Given the description of an element on the screen output the (x, y) to click on. 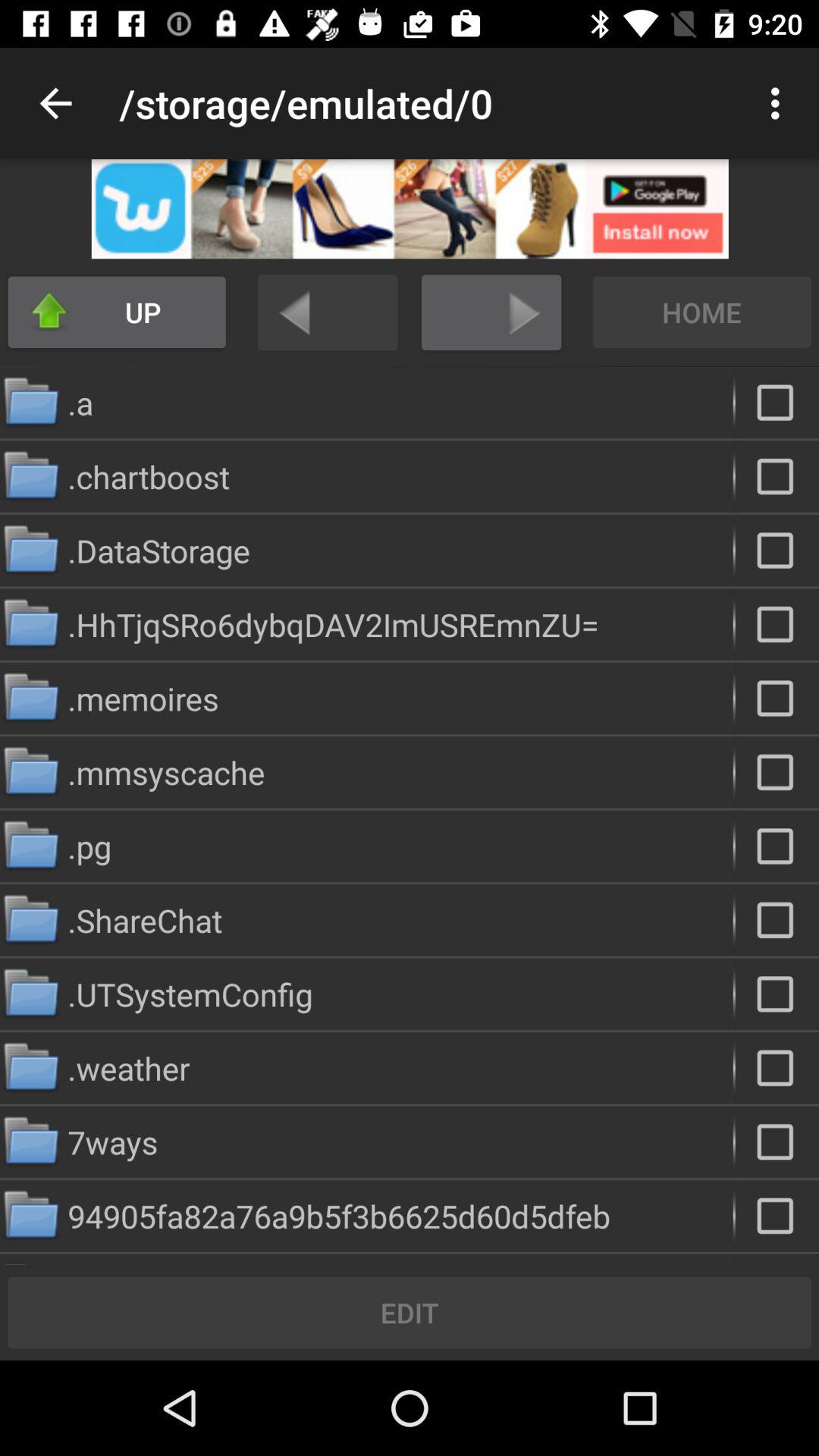
mark/unmark (777, 476)
